Given the description of an element on the screen output the (x, y) to click on. 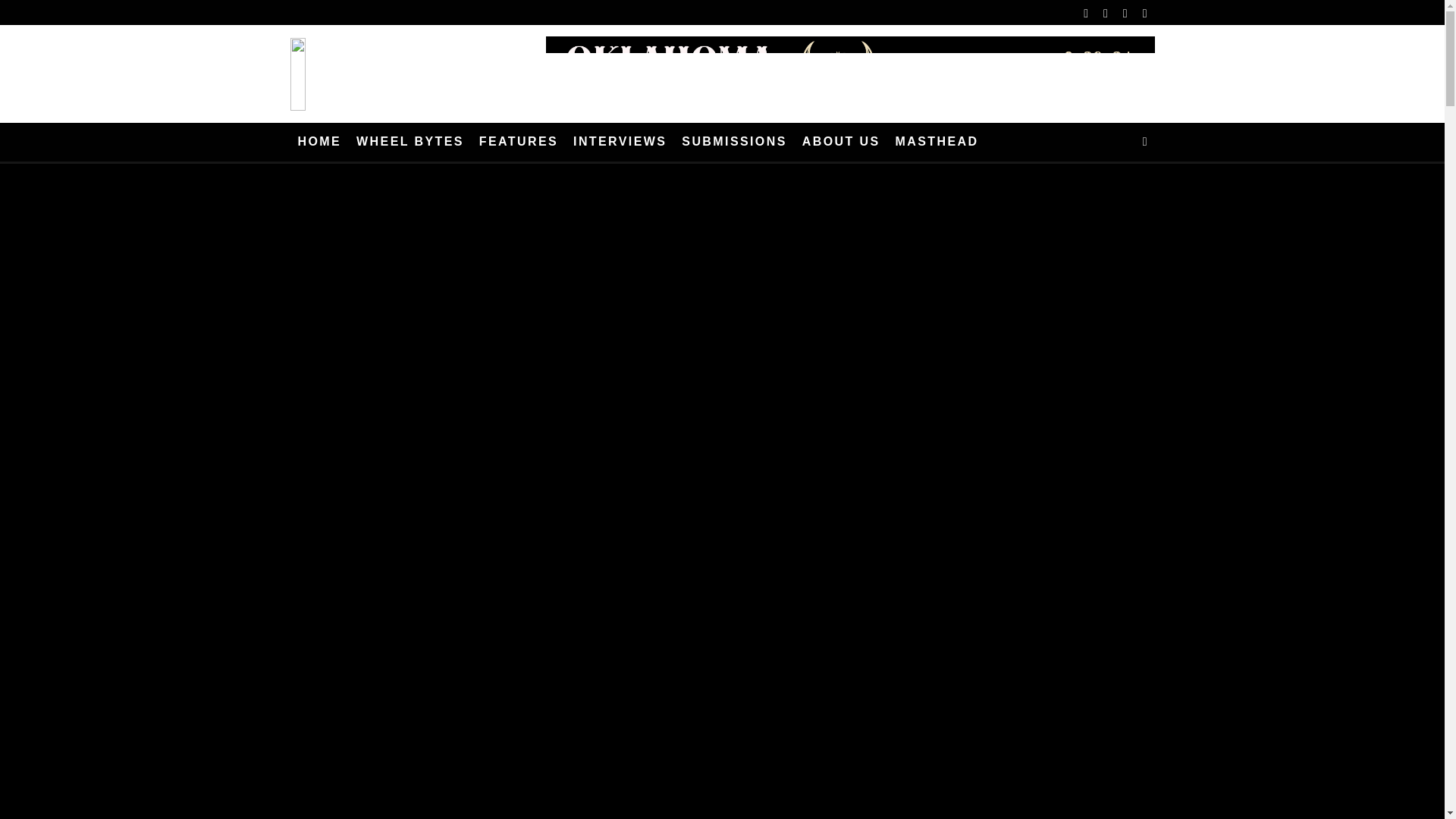
WHEEL BYTES (410, 141)
FEATURES (518, 141)
HOME (319, 141)
